Given the description of an element on the screen output the (x, y) to click on. 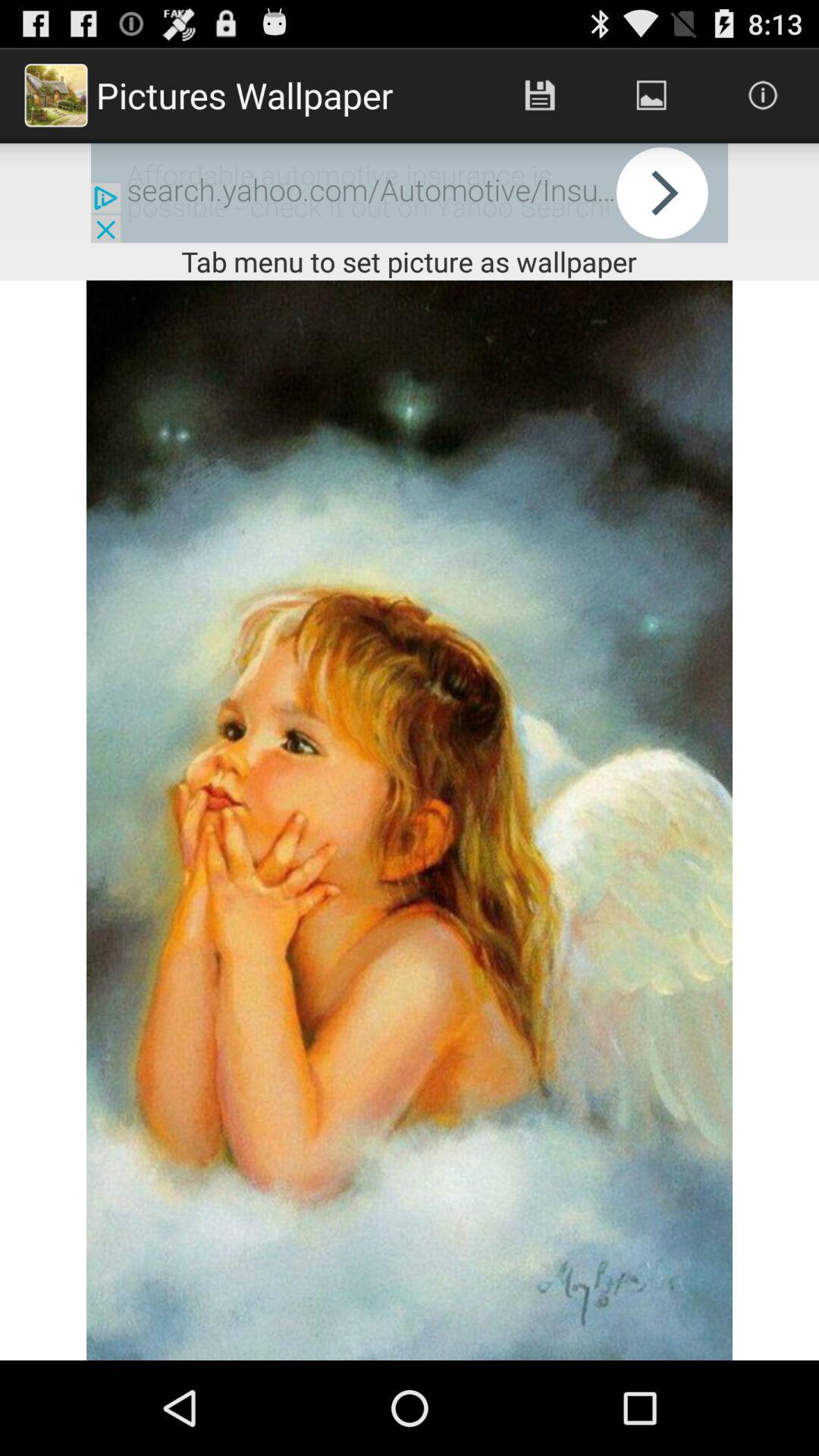
select auto advertisement (409, 192)
